Given the description of an element on the screen output the (x, y) to click on. 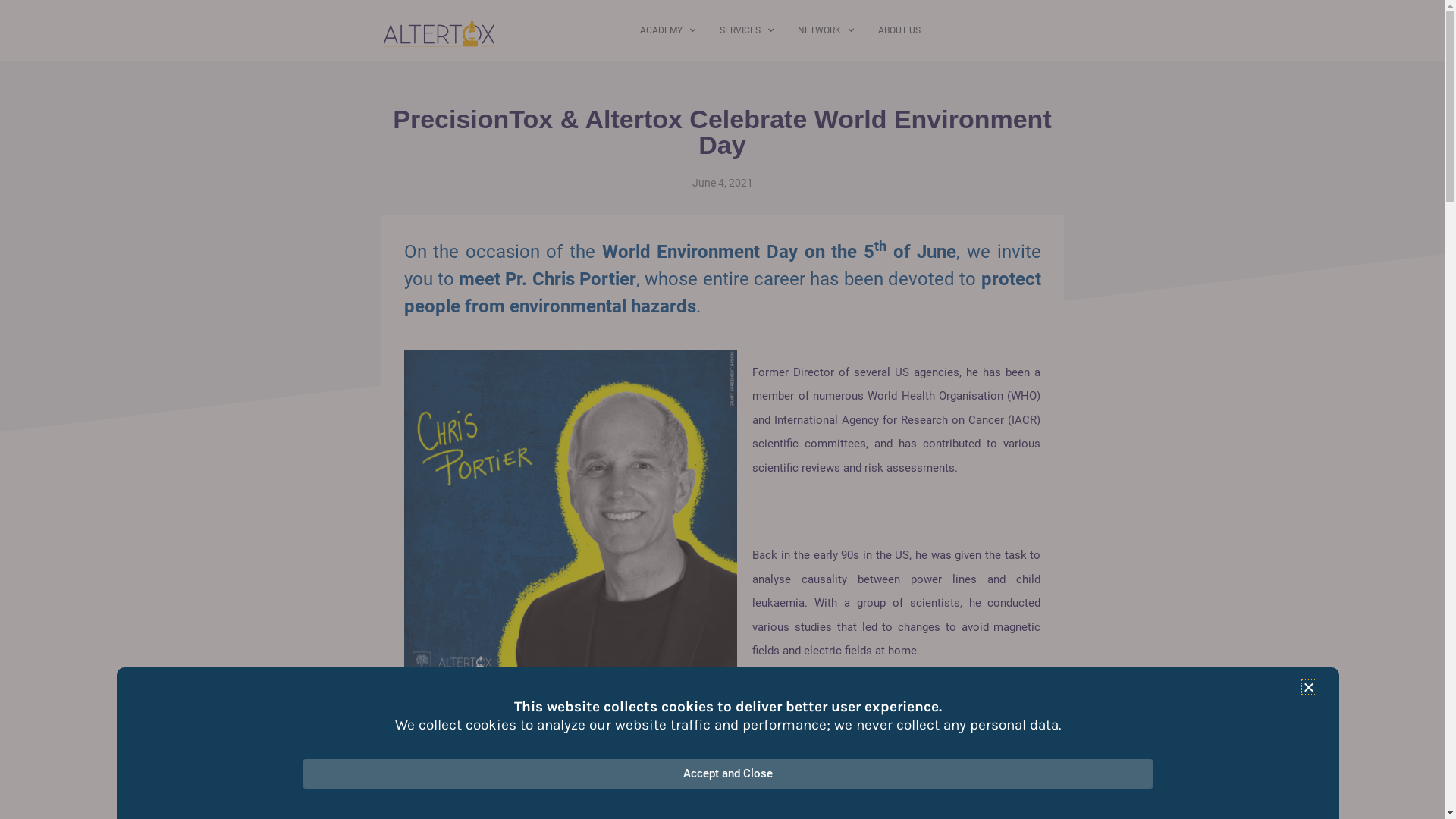
NETWORK Element type: text (825, 30)
ABOUT US Element type: text (899, 30)
Accept and Close Element type: text (727, 773)
ACADEMY Element type: text (667, 30)
June 4, 2021 Element type: text (721, 182)
A Human Health Perspective on Climate Change Element type: text (528, 796)
SERVICES Element type: text (746, 30)
